Given the description of an element on the screen output the (x, y) to click on. 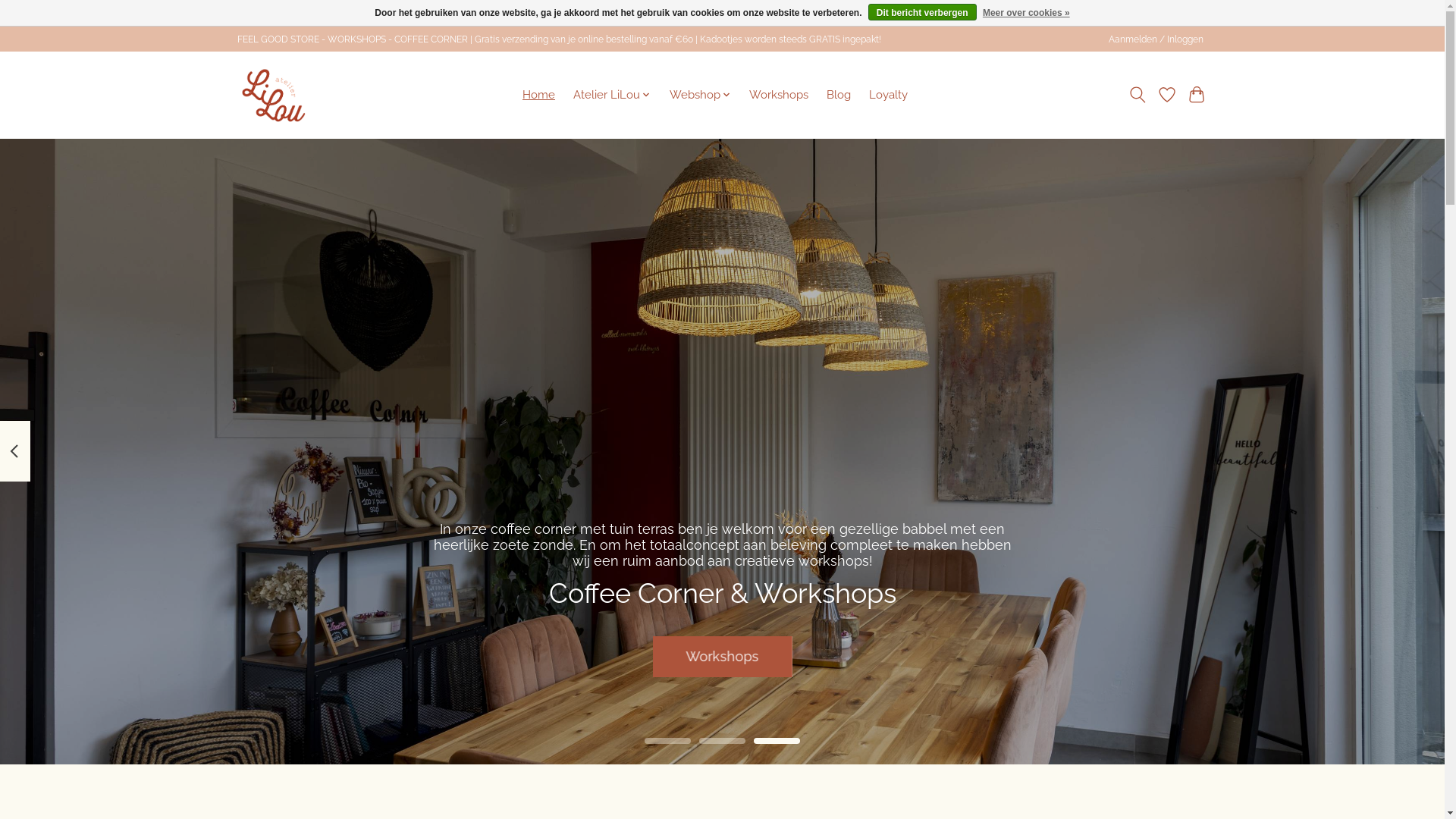
Home Element type: text (538, 94)
Loyalty Element type: text (888, 94)
Dit bericht verbergen Element type: text (922, 11)
Blog Element type: text (838, 94)
Atelier LiLou Element type: text (611, 94)
Webshop Element type: text (699, 94)
Workshops Element type: text (778, 94)
Aanmelden / Inloggen Element type: text (1155, 39)
Workshops Element type: text (721, 655)
